Given the description of an element on the screen output the (x, y) to click on. 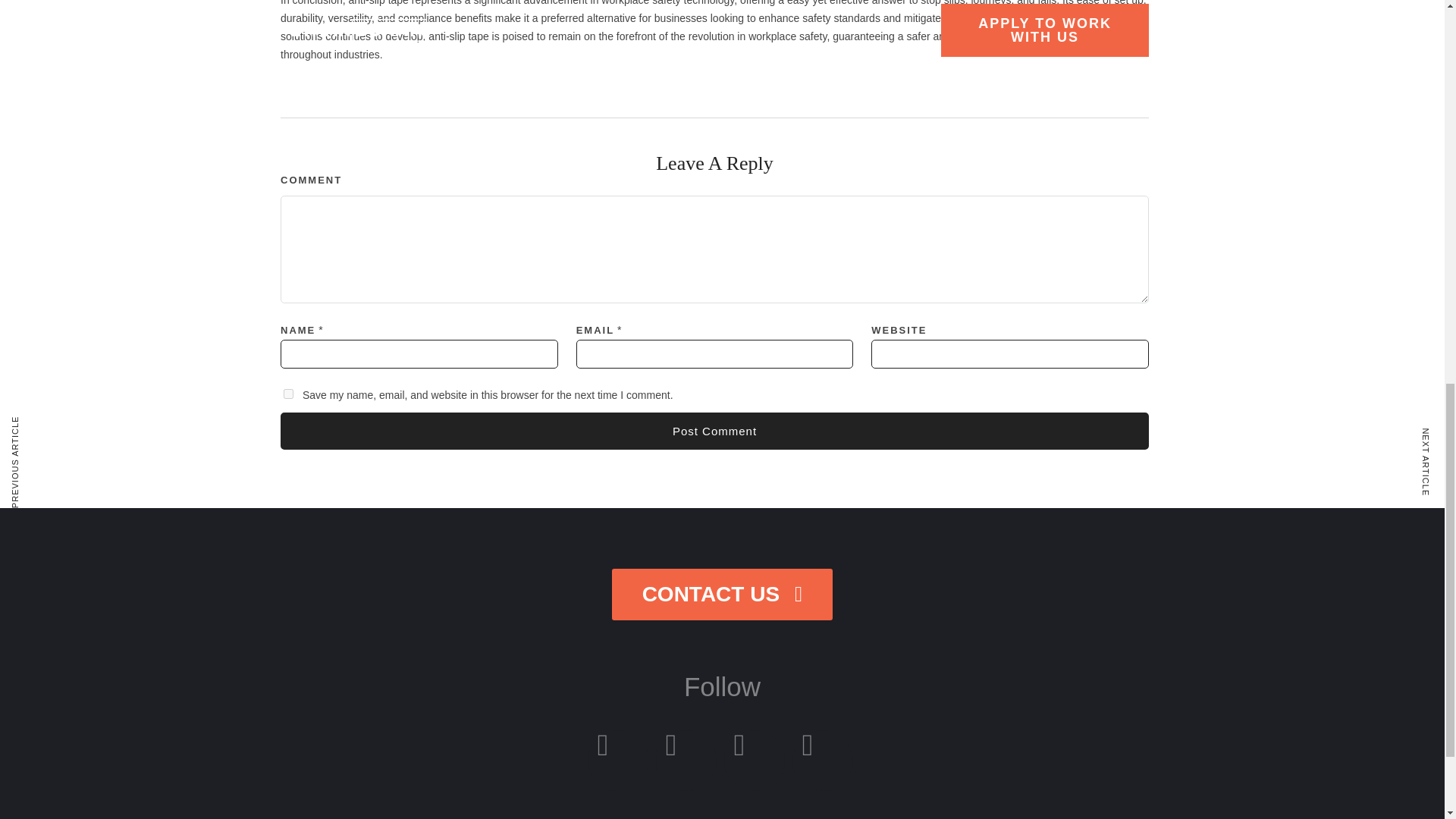
Post Comment (714, 431)
CONTACT US (721, 593)
Post Comment (714, 431)
yes (288, 393)
